Given the description of an element on the screen output the (x, y) to click on. 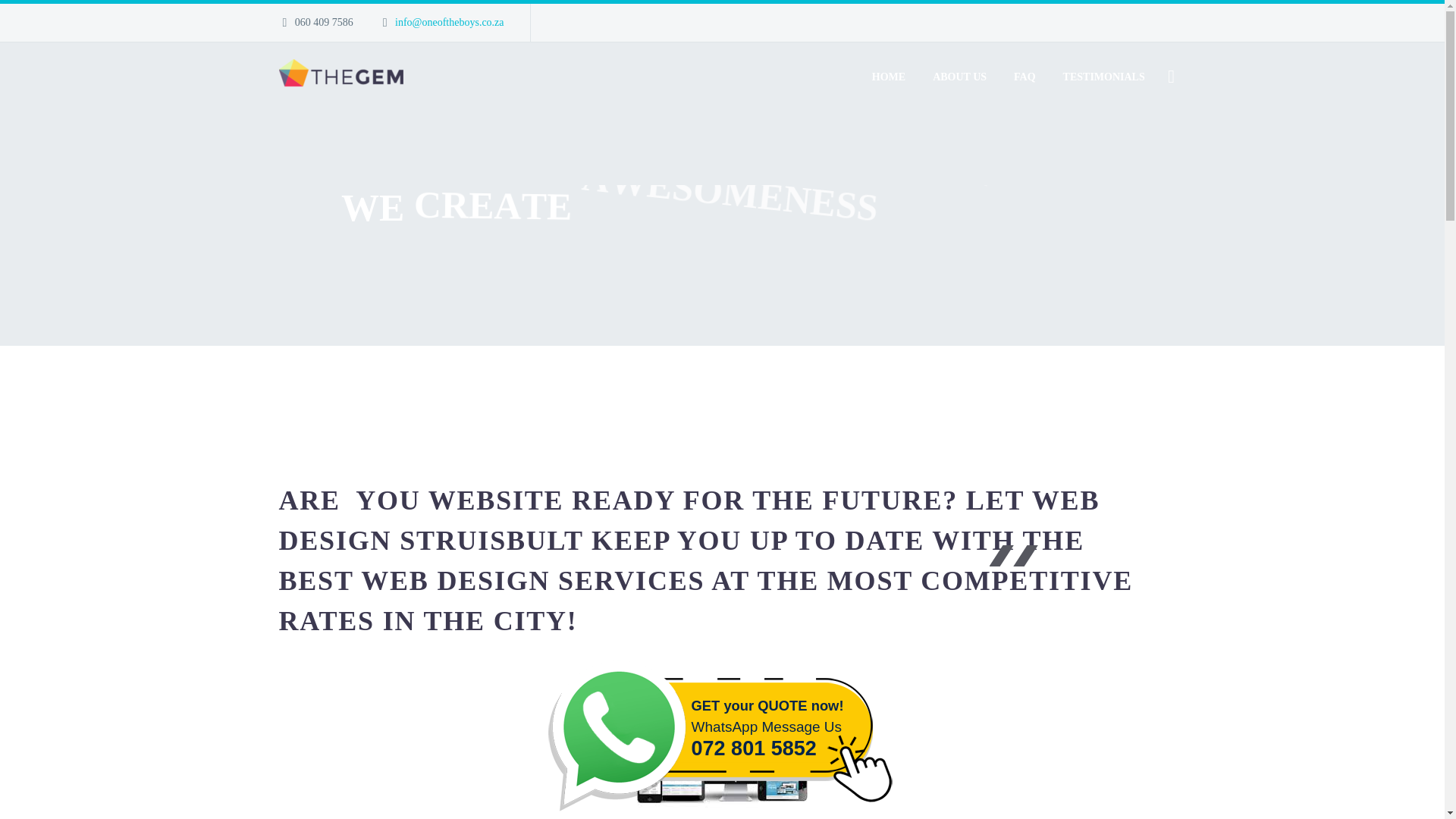
TESTIMONIALS (1103, 76)
HOME (888, 76)
ABOUT US (959, 76)
FAQ (1024, 76)
